Given the description of an element on the screen output the (x, y) to click on. 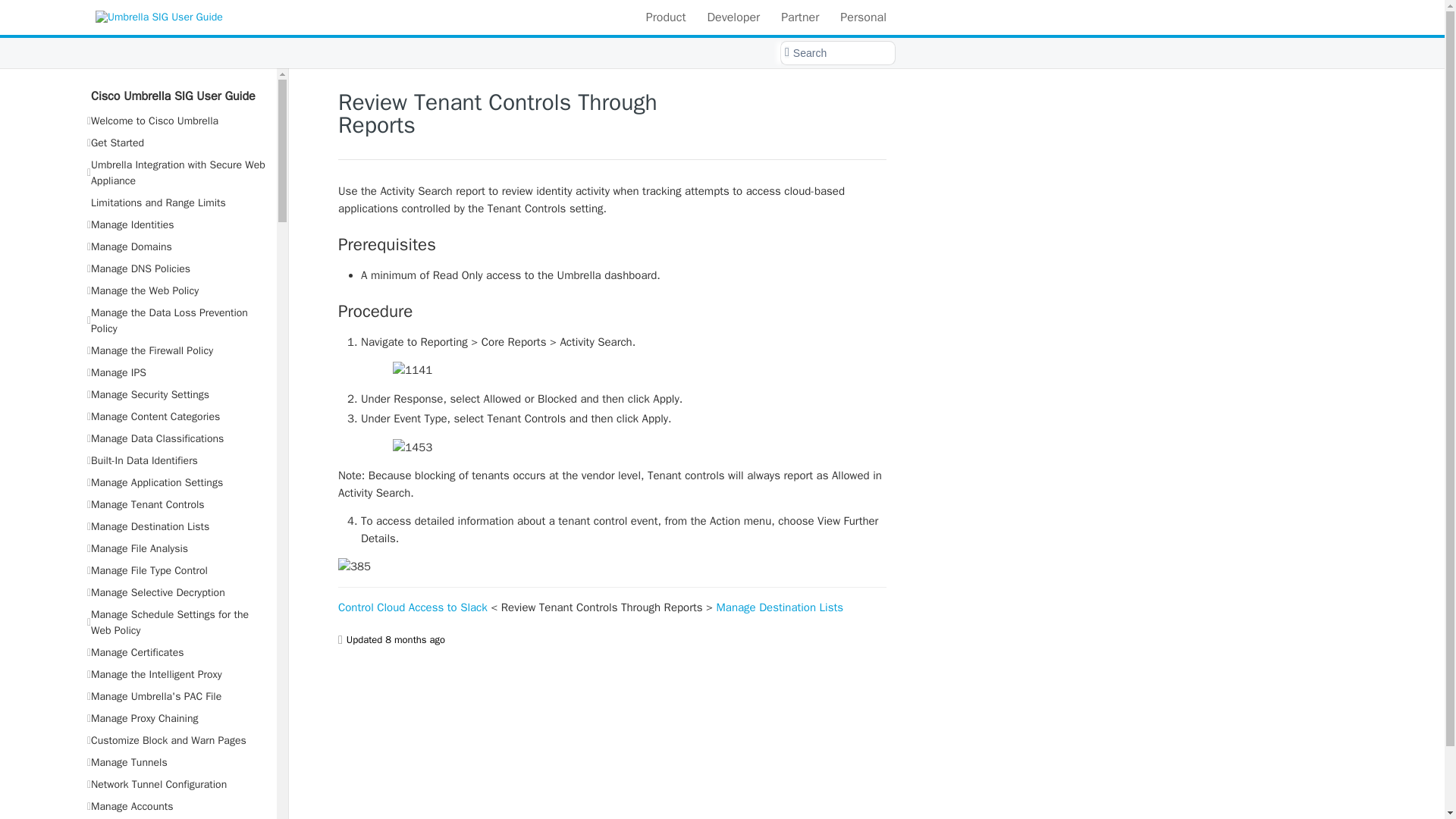
Product (665, 16)
Partner (800, 16)
Welcome to Cisco Umbrella (176, 120)
tenant control details.png (611, 566)
Personal (863, 16)
Search (837, 52)
activity-search.png (612, 370)
Prerequisites (611, 243)
Developer (733, 16)
Umbrella Integration with Secure Web Appliance (176, 172)
Procedure (611, 311)
tenasnt controls.png (612, 446)
Get Started (176, 142)
